Given the description of an element on the screen output the (x, y) to click on. 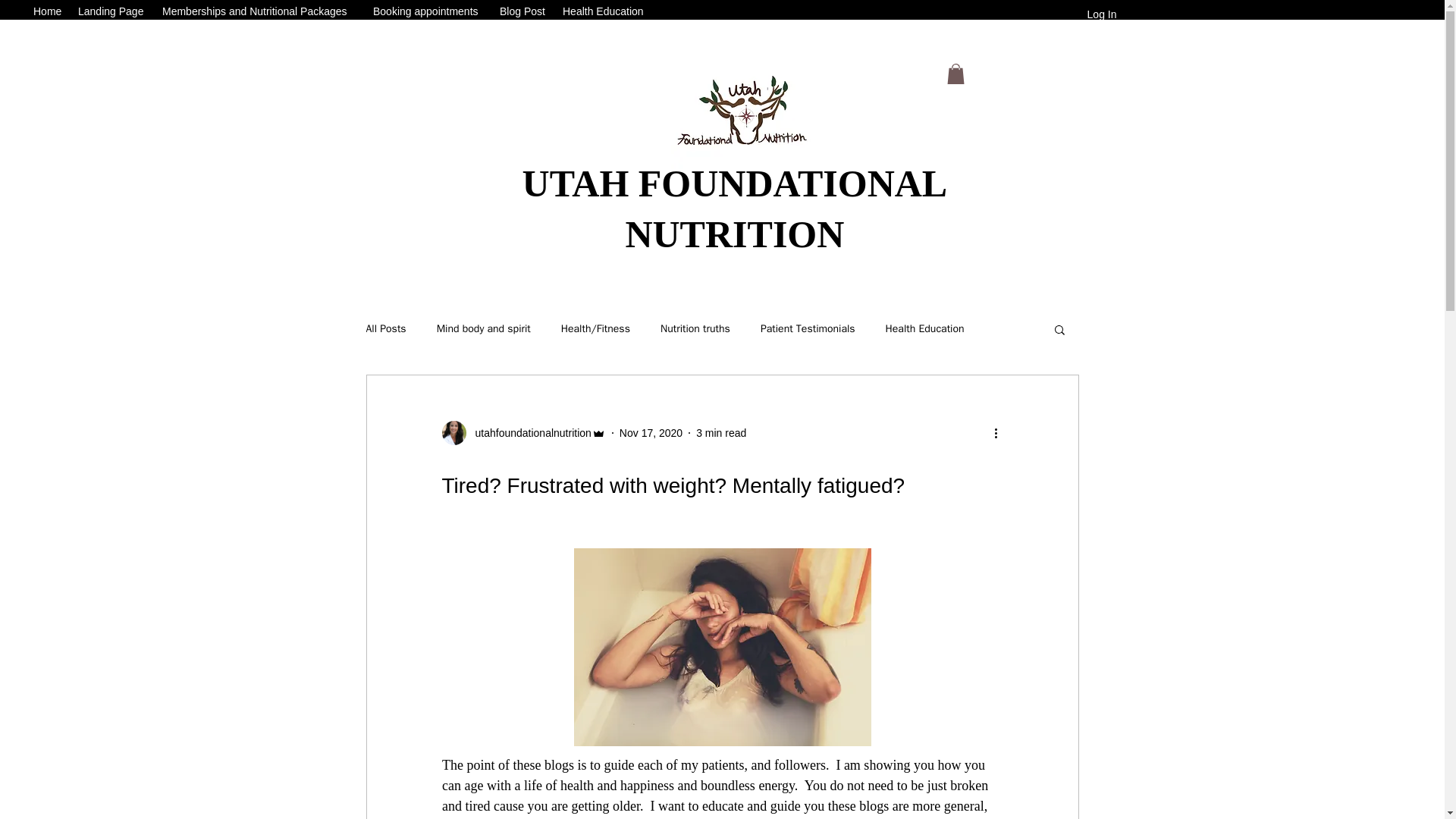
Home (47, 11)
Blog Post (523, 11)
Mind body and spirit (483, 328)
Log In (1101, 14)
Booking appointments (428, 11)
utahfoundationalnutrition (523, 432)
All Posts (385, 328)
Nov 17, 2020 (651, 431)
3 min read (720, 431)
Patient Testimonials (808, 328)
Landing Page (111, 11)
Nutrition truths (695, 328)
UTAH FOUNDATIONAL NUTRITION (734, 208)
Health Education (924, 328)
Memberships and Nutritional Packages (259, 11)
